Given the description of an element on the screen output the (x, y) to click on. 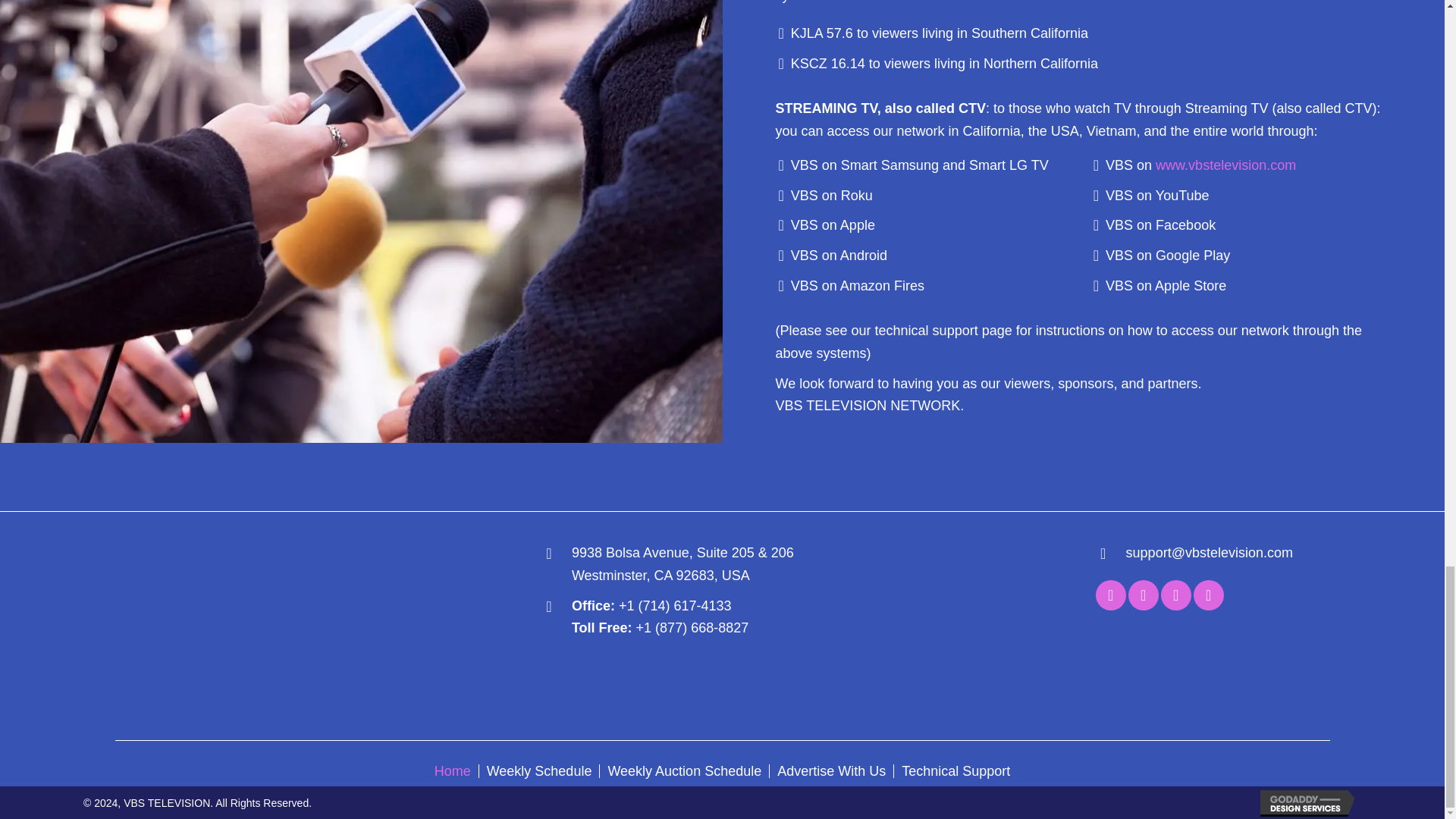
Advertise With Us (831, 771)
Weekly Auction Schedule (683, 771)
www.vbstelevision.com (1225, 165)
Youtube (1143, 594)
Home (452, 771)
Facebook (1110, 594)
Weekly Schedule (539, 771)
LinkedIn (1175, 594)
VBS TELEVISION (200, 627)
